Given the description of an element on the screen output the (x, y) to click on. 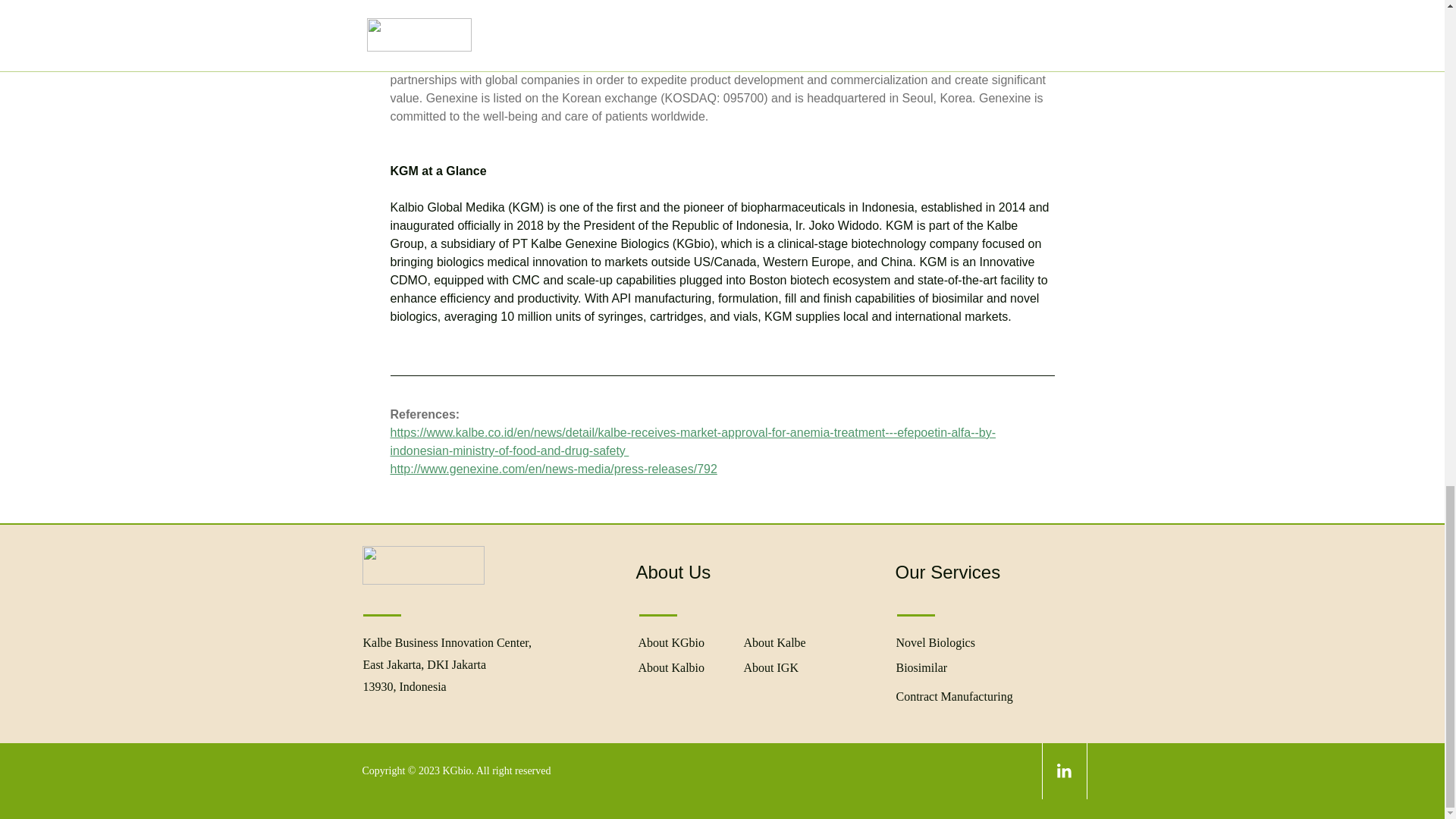
Contract Manufacturing (954, 696)
About Kalbe (773, 642)
Biosimilar (921, 667)
About KGbio (671, 642)
About IGK (769, 667)
About Kalbio (671, 667)
Novel Biologics (935, 642)
